Given the description of an element on the screen output the (x, y) to click on. 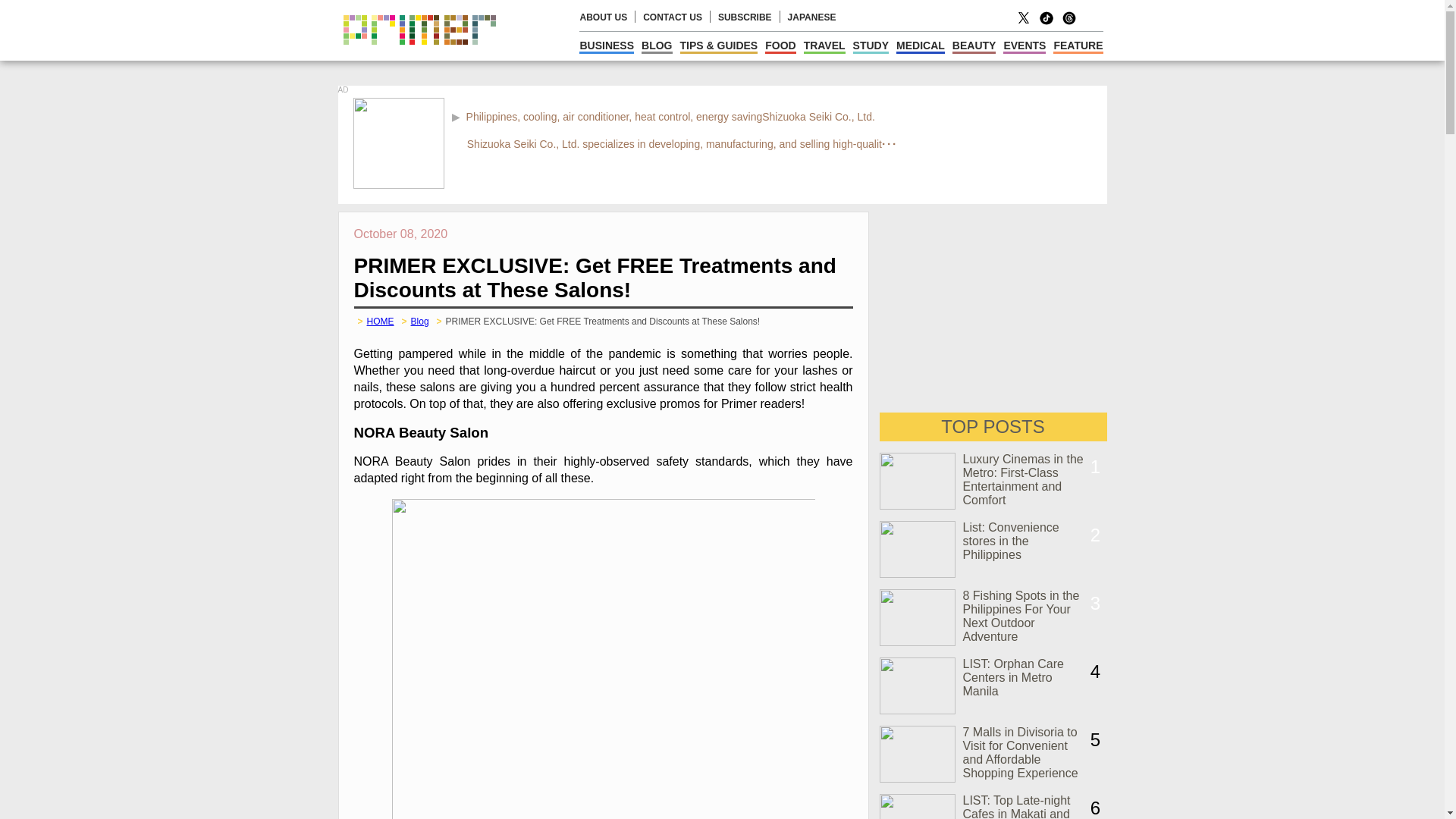
FOOD (779, 45)
TRAVEL (824, 45)
BEAUTY (973, 45)
EVENTS (1024, 45)
TikTok (1046, 22)
MEDICAL (920, 45)
Philippine Food (779, 45)
SUBSCRIBE (744, 17)
HOME (380, 321)
